Given the description of an element on the screen output the (x, y) to click on. 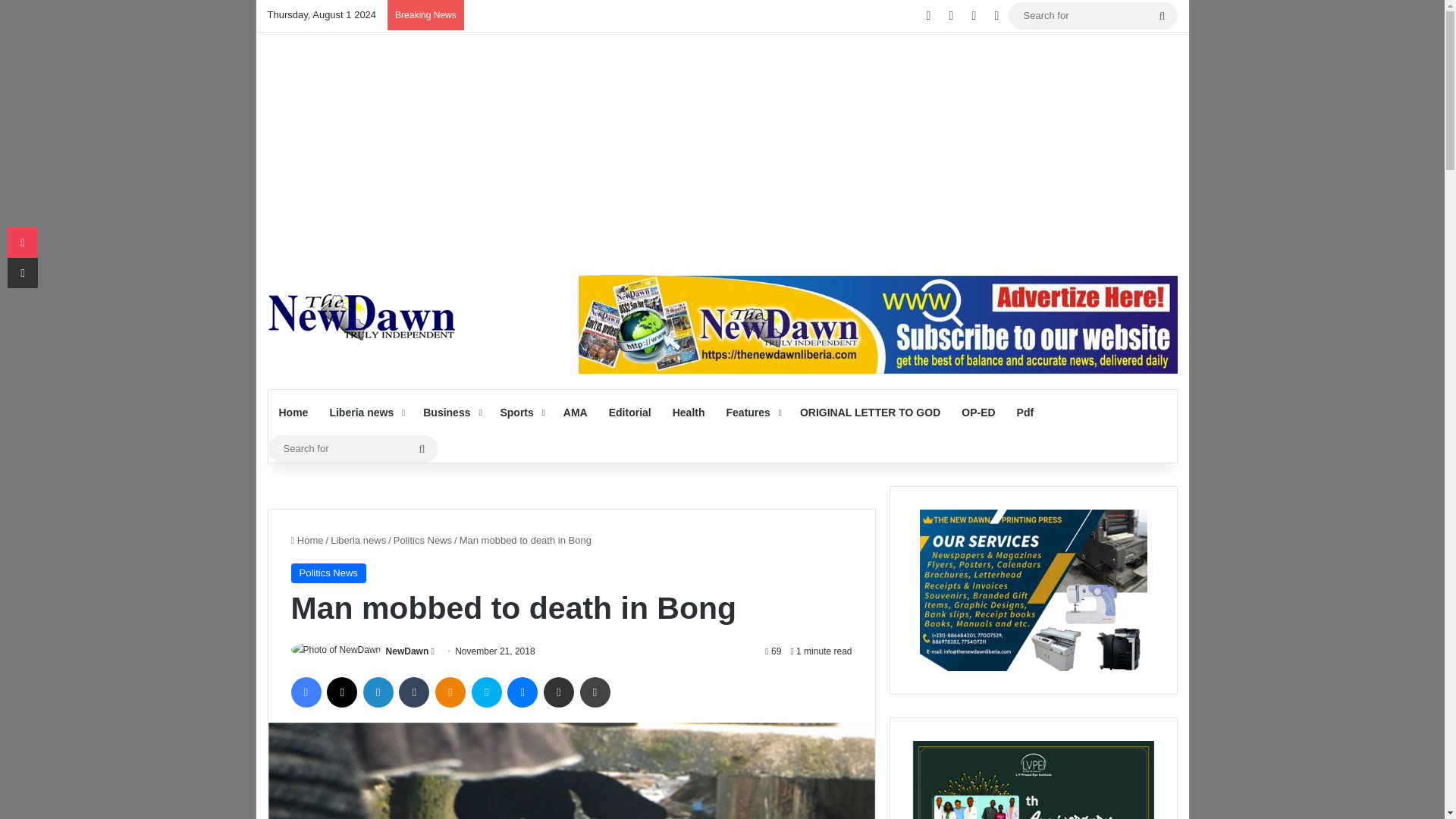
Sports (520, 411)
Business (450, 411)
X (341, 692)
NewDawn (407, 651)
Tumblr (413, 692)
Messenger (521, 692)
Liberia news (365, 411)
Share via Email (558, 692)
Skype (486, 692)
Home (292, 411)
